Given the description of an element on the screen output the (x, y) to click on. 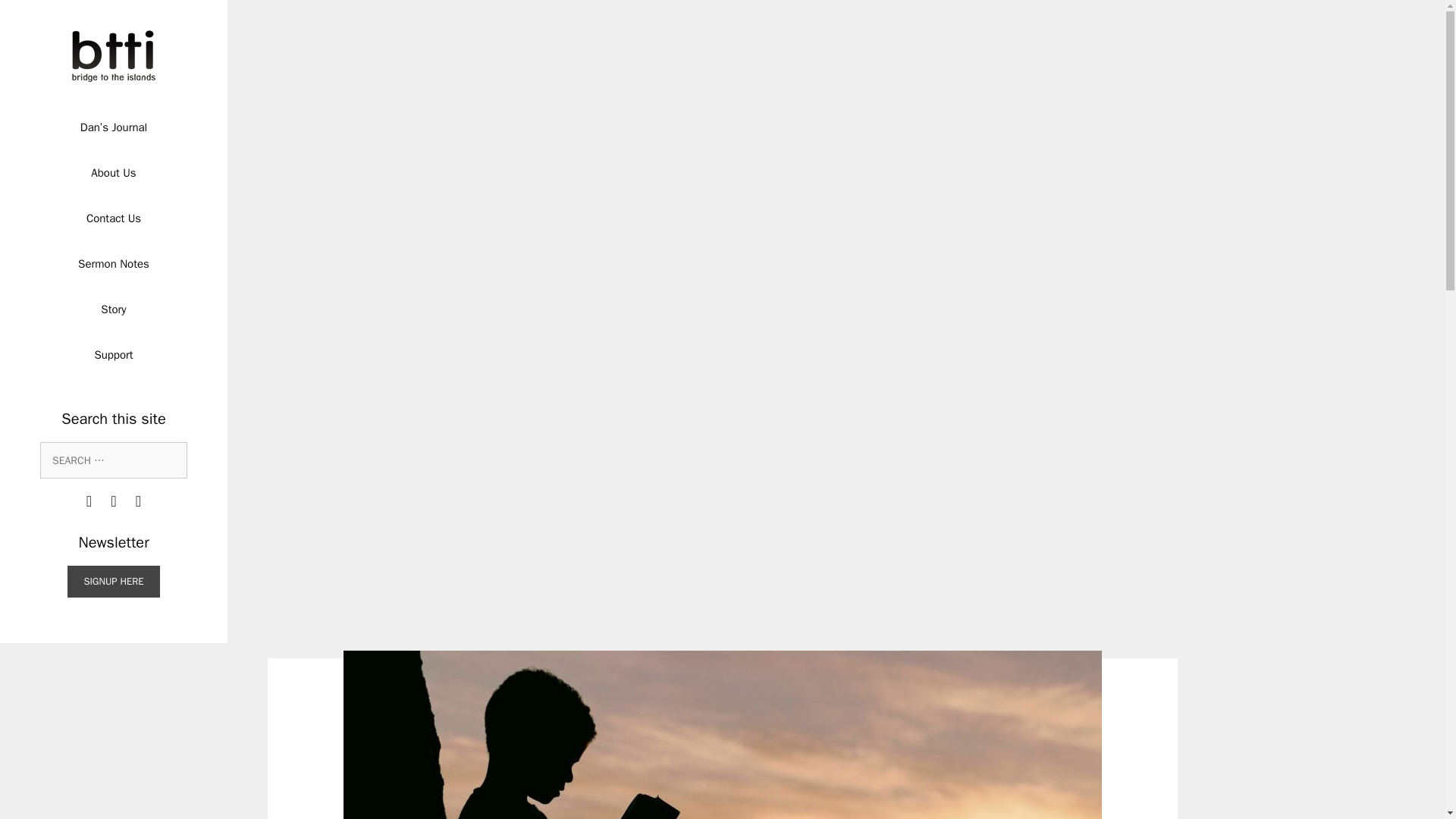
About Us (113, 172)
Support (113, 354)
Bridge to the Islands (113, 55)
SIGNUP HERE (112, 581)
Search (33, 15)
Story (113, 309)
Sermon Notes (113, 263)
Bridge to the Islands (113, 54)
Contact Us (113, 217)
Search for: (113, 460)
